Given the description of an element on the screen output the (x, y) to click on. 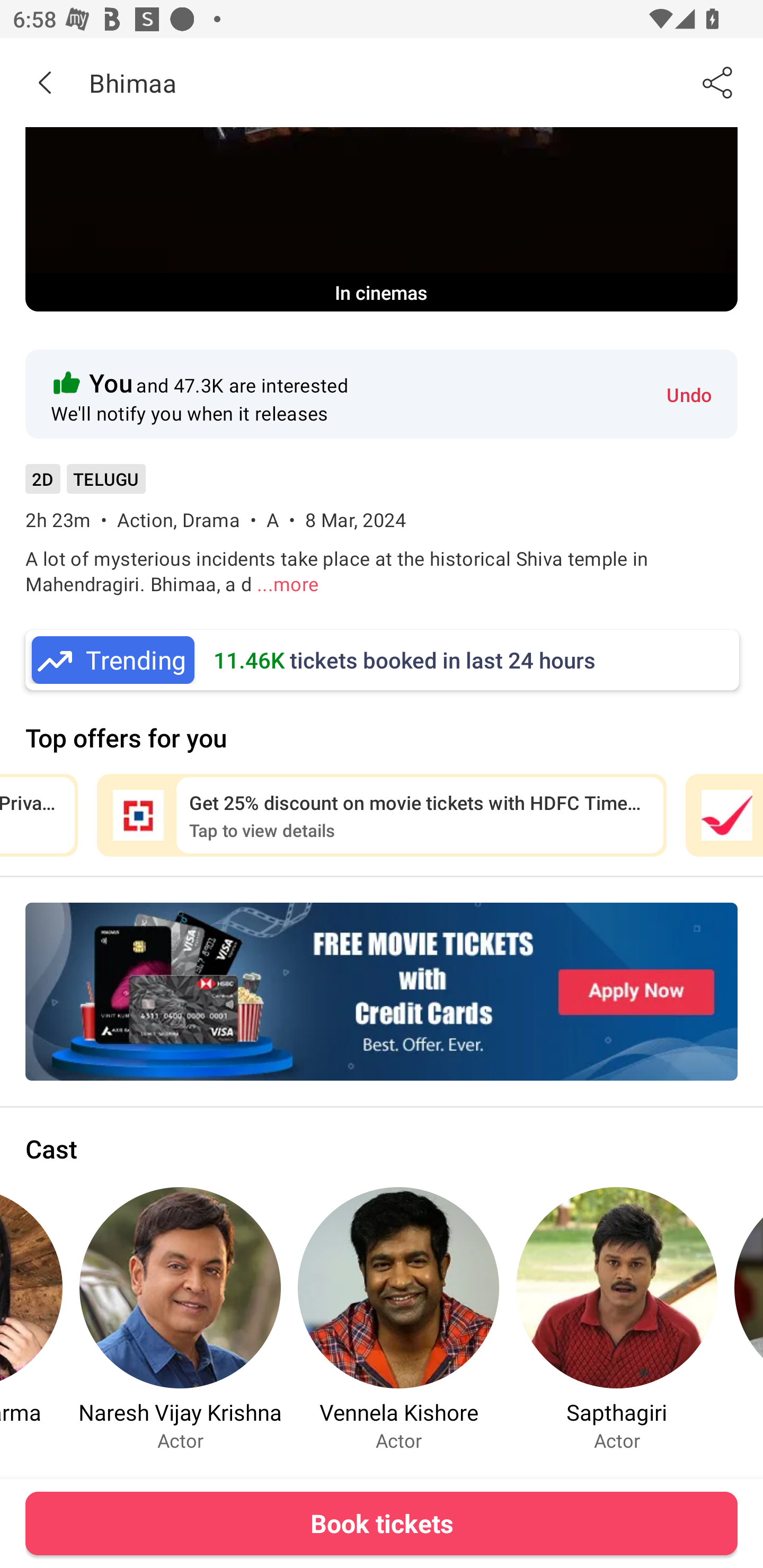
Back (44, 82)
Share (718, 82)
Movie Banner In cinemas (381, 219)
Undo (688, 394)
2D TELUGU (85, 485)
Naresh Vijay Krishna Actor (180, 1319)
Vennela Kishore Actor (398, 1319)
Sapthagiri Actor (616, 1319)
Book tickets (381, 1523)
